Given the description of an element on the screen output the (x, y) to click on. 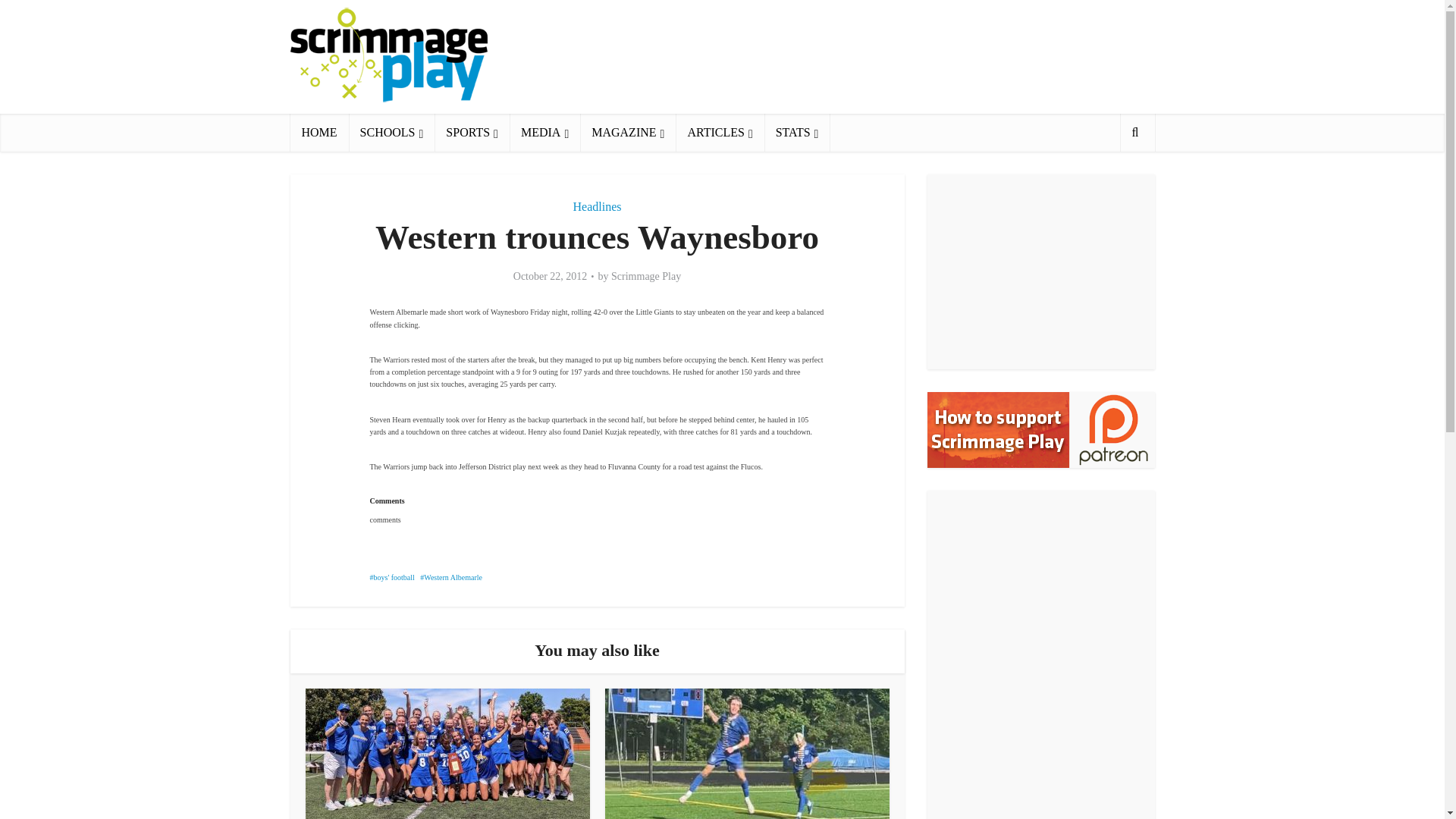
SCHOOLS (392, 132)
HOME (318, 132)
SPORTS (471, 132)
Advertisement (878, 56)
